Given the description of an element on the screen output the (x, y) to click on. 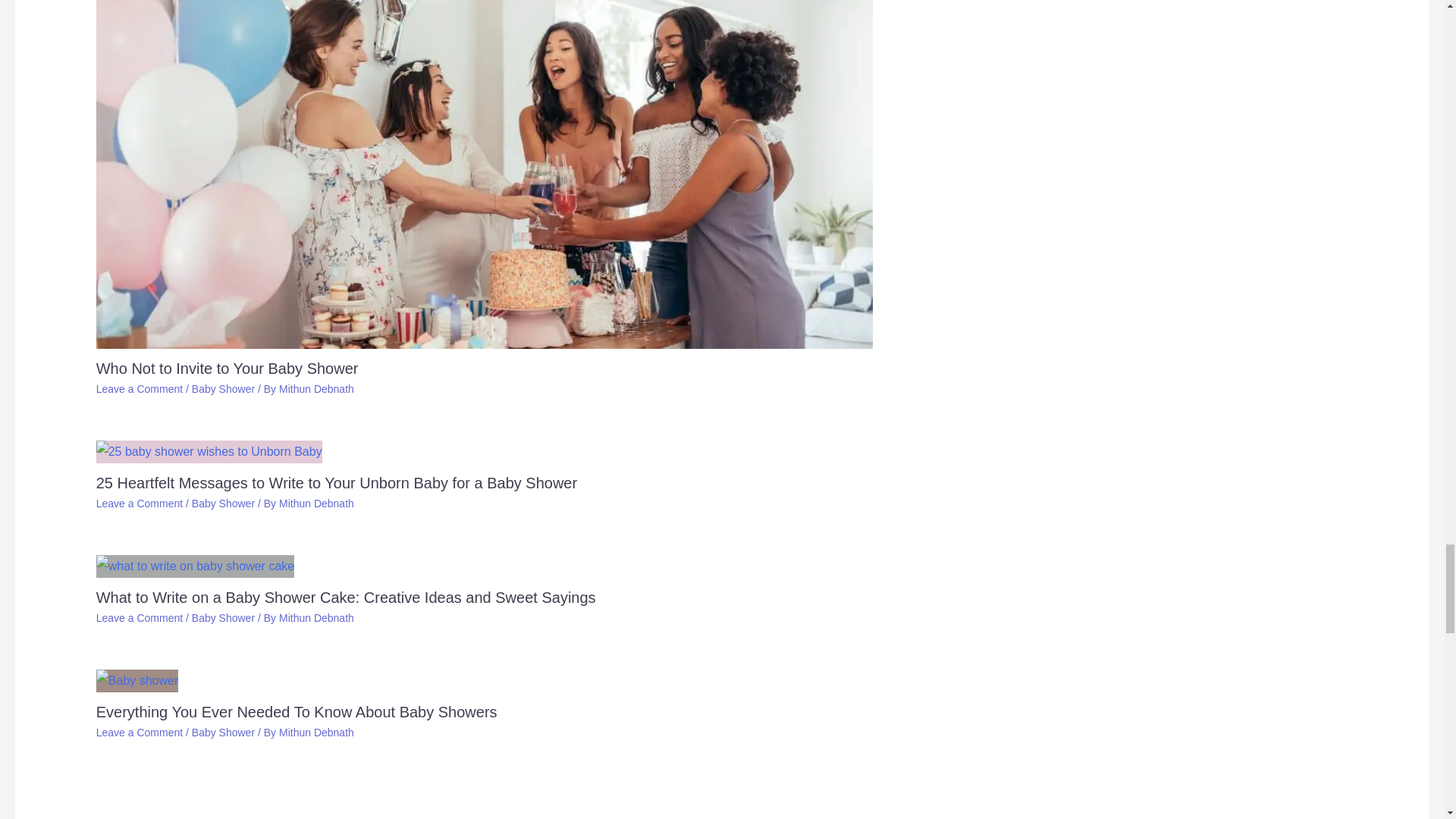
Baby Shower (223, 503)
View all posts by Mithun Debnath (316, 503)
Baby Shower (223, 388)
View all posts by Mithun Debnath (316, 388)
Leave a Comment (139, 503)
View all posts by Mithun Debnath (316, 732)
Mithun Debnath (316, 388)
Leave a Comment (139, 388)
Who Not to Invite to Your Baby Shower (227, 368)
